Given the description of an element on the screen output the (x, y) to click on. 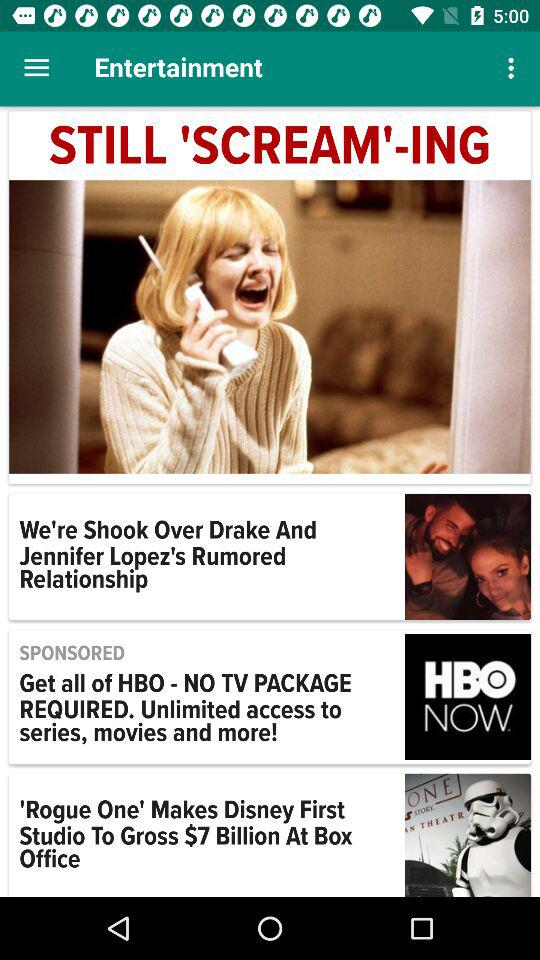
press still 'scream'-ing (270, 147)
